Given the description of an element on the screen output the (x, y) to click on. 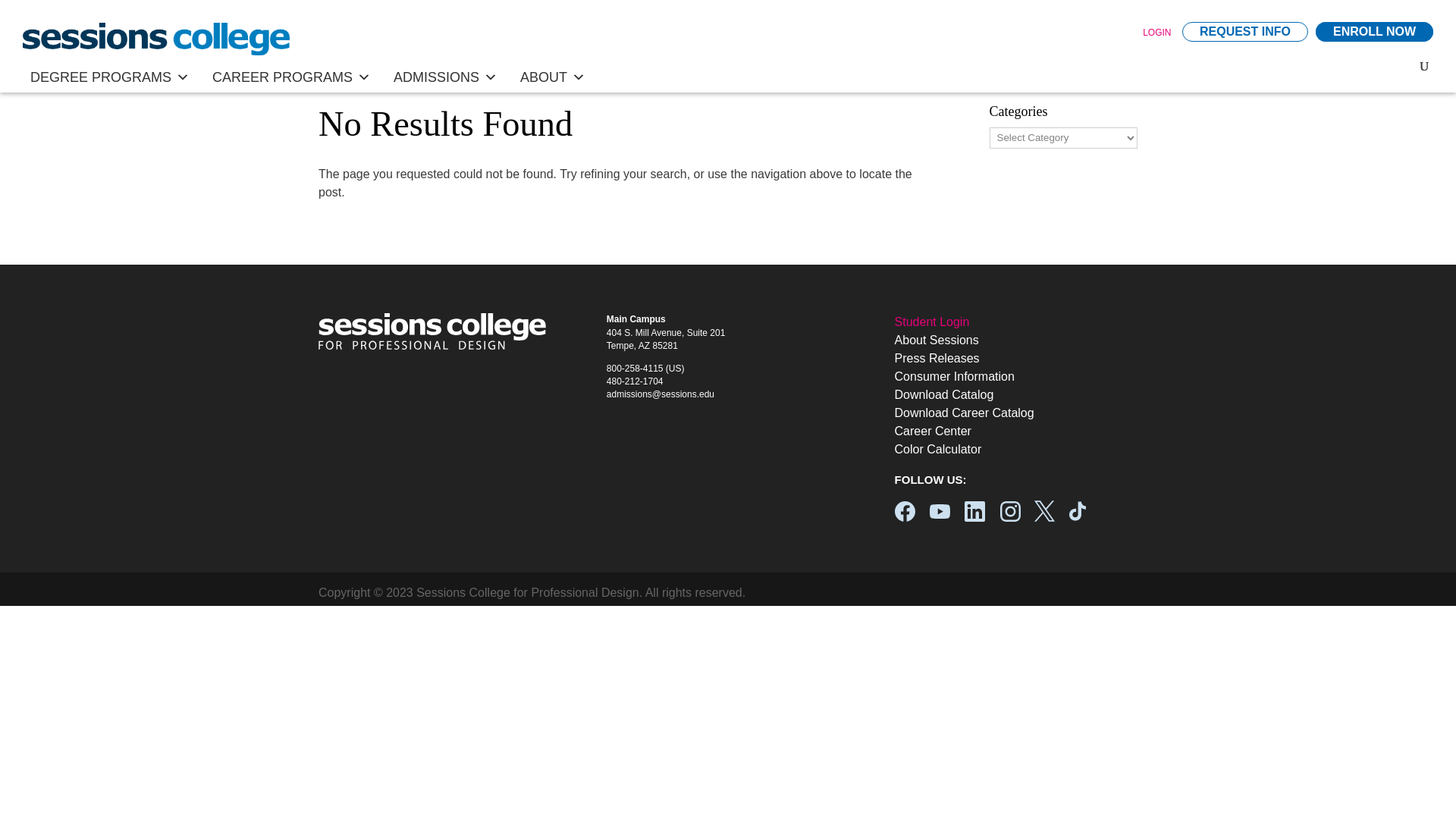
facebook (905, 511)
home (156, 38)
CAREER PROGRAMS (291, 77)
ADMISSIONS (445, 77)
DEGREE PROGRAMS (109, 77)
